Given the description of an element on the screen output the (x, y) to click on. 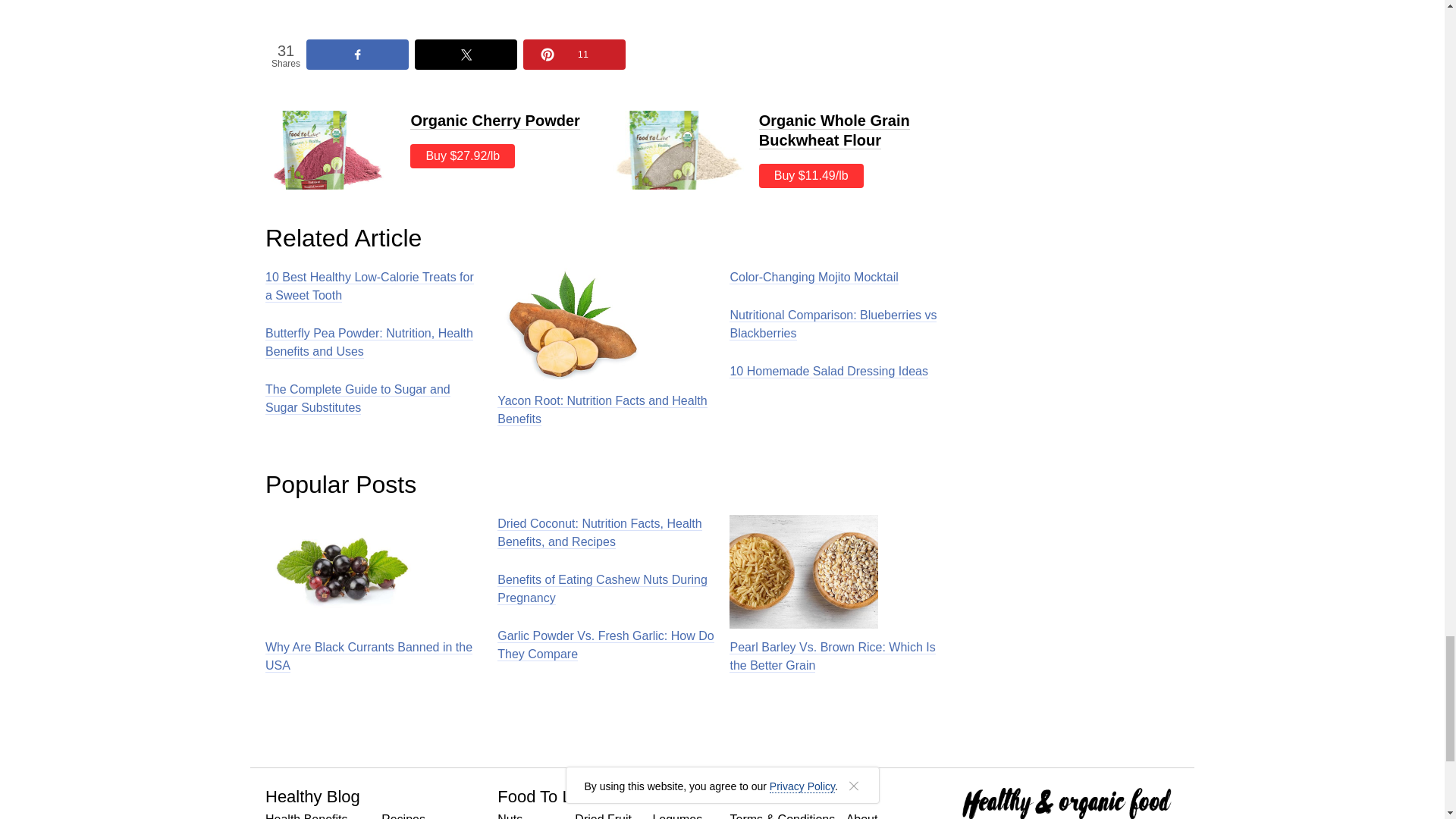
Why Are Black Currants Banned in the USA (372, 594)
Recipes (403, 814)
Color-Changing Mojito Mocktail (813, 277)
Dried Coconut: Nutrition Facts, Health Benefits, and Recipes (605, 533)
Organic Cherry Powder (494, 120)
The Complete Guide to Sugar and Sugar Substitutes (372, 398)
Legumes (676, 814)
Benefits of Eating Cashew Nuts During Pregnancy (605, 588)
Yacon Root: Nutrition Facts and Health Benefits (605, 348)
Nutritional Comparison: Blueberries vs Blackberries (837, 324)
10 Homemade Salad Dressing Ideas (828, 371)
Butterfly Pea Powder: Nutrition, Health Benefits and Uses (372, 342)
Organic Whole Grain Buckwheat Flour (834, 130)
Garlic Powder Vs. Fresh Garlic: How Do They Compare (605, 645)
Nuts (509, 814)
